Given the description of an element on the screen output the (x, y) to click on. 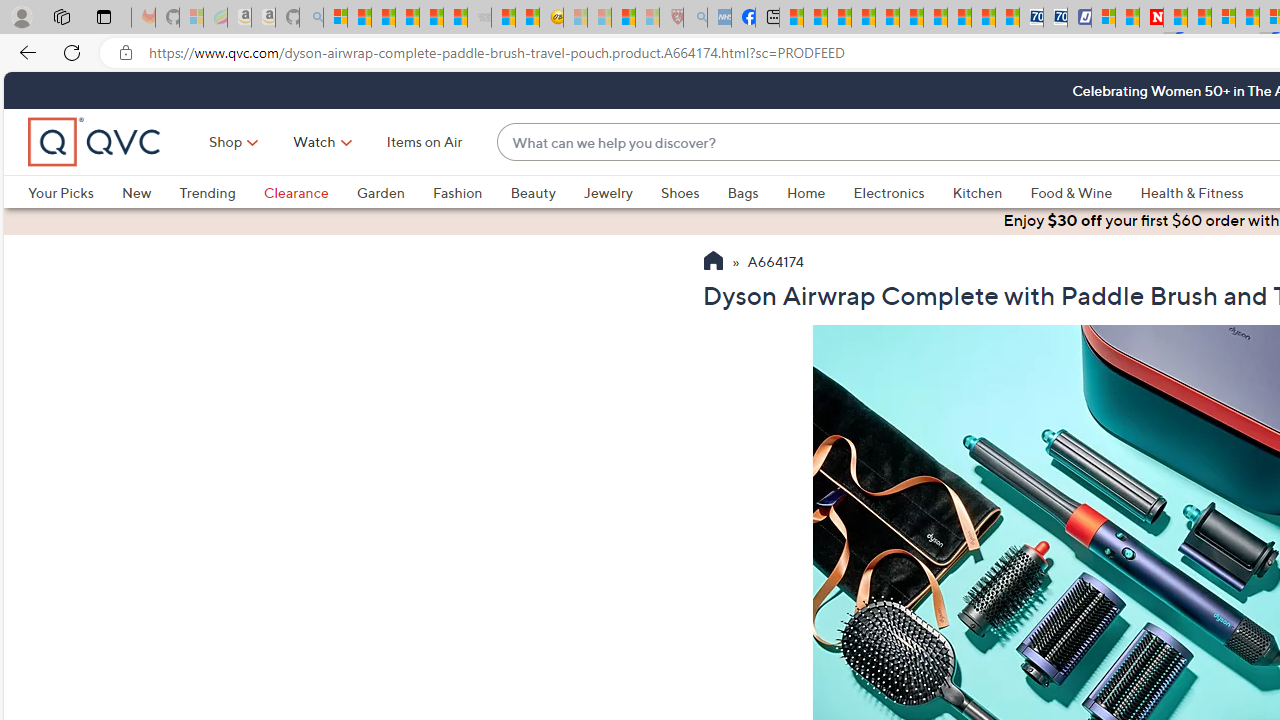
New Report Confirms 2023 Was Record Hot | Watch (430, 17)
Home (819, 192)
Health & Fitness (1197, 192)
Electronics (902, 192)
